Given the description of an element on the screen output the (x, y) to click on. 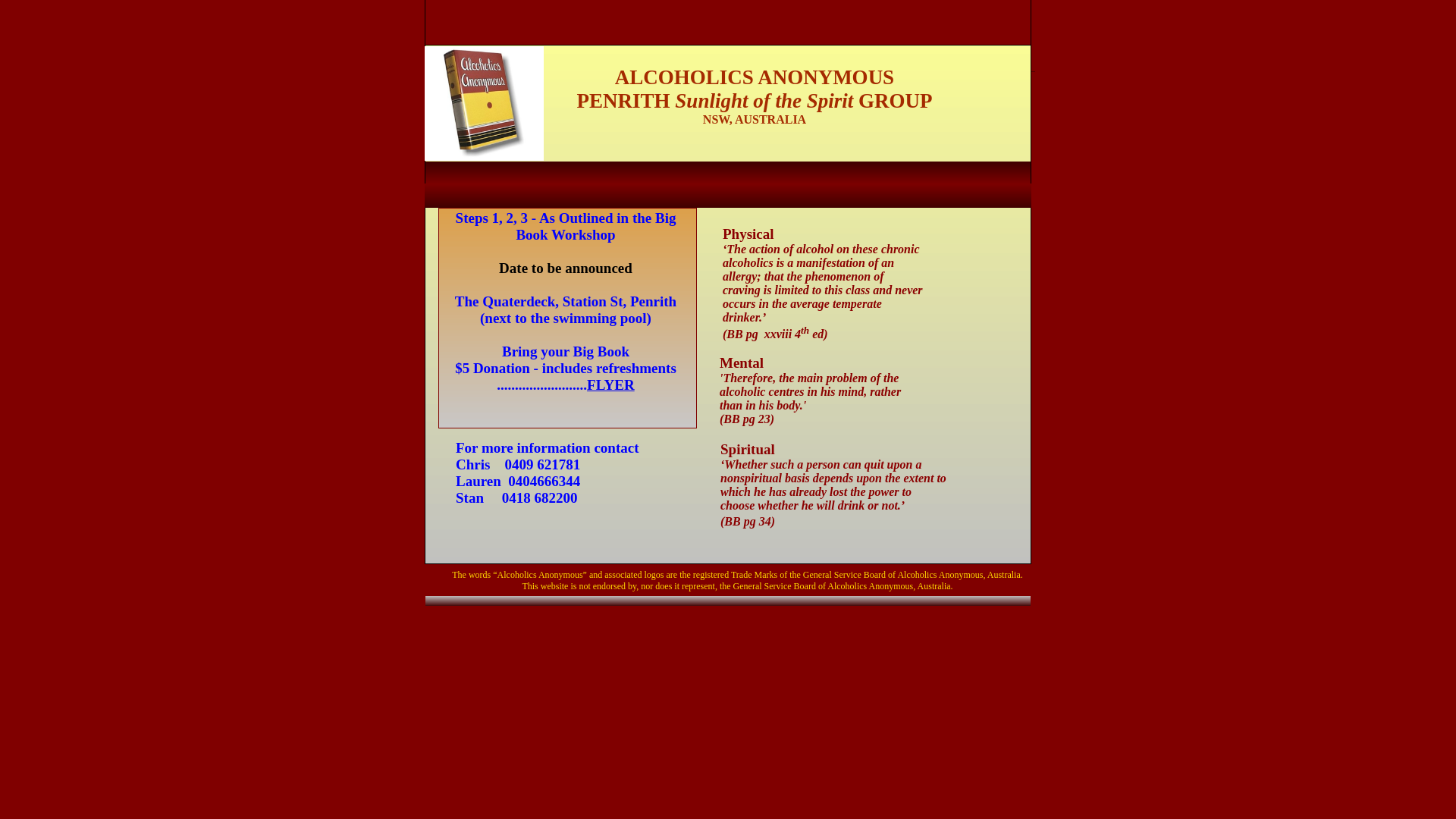
FLYER Element type: text (610, 384)
